Given the description of an element on the screen output the (x, y) to click on. 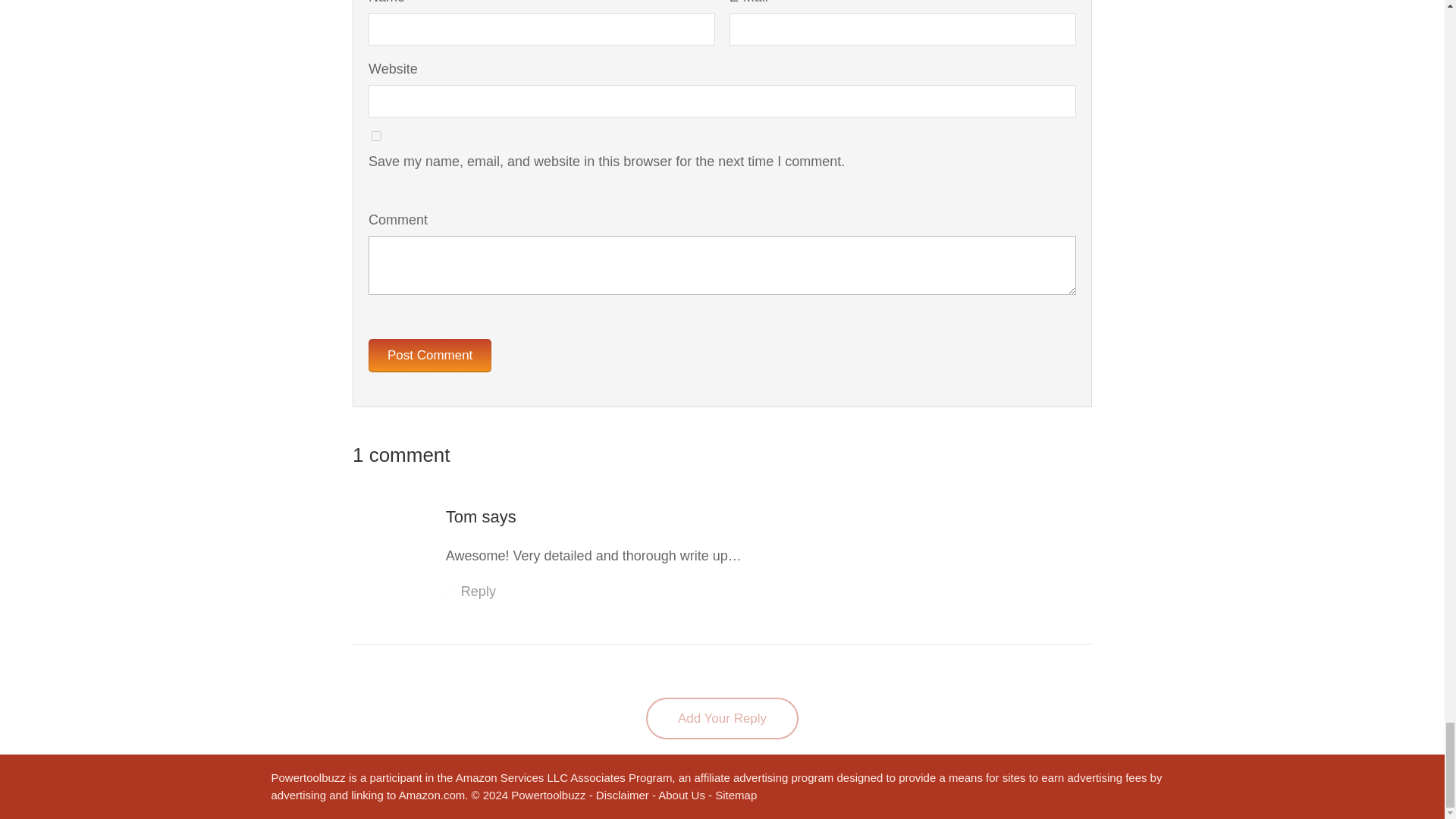
Post Comment (430, 355)
yes (376, 135)
